Given the description of an element on the screen output the (x, y) to click on. 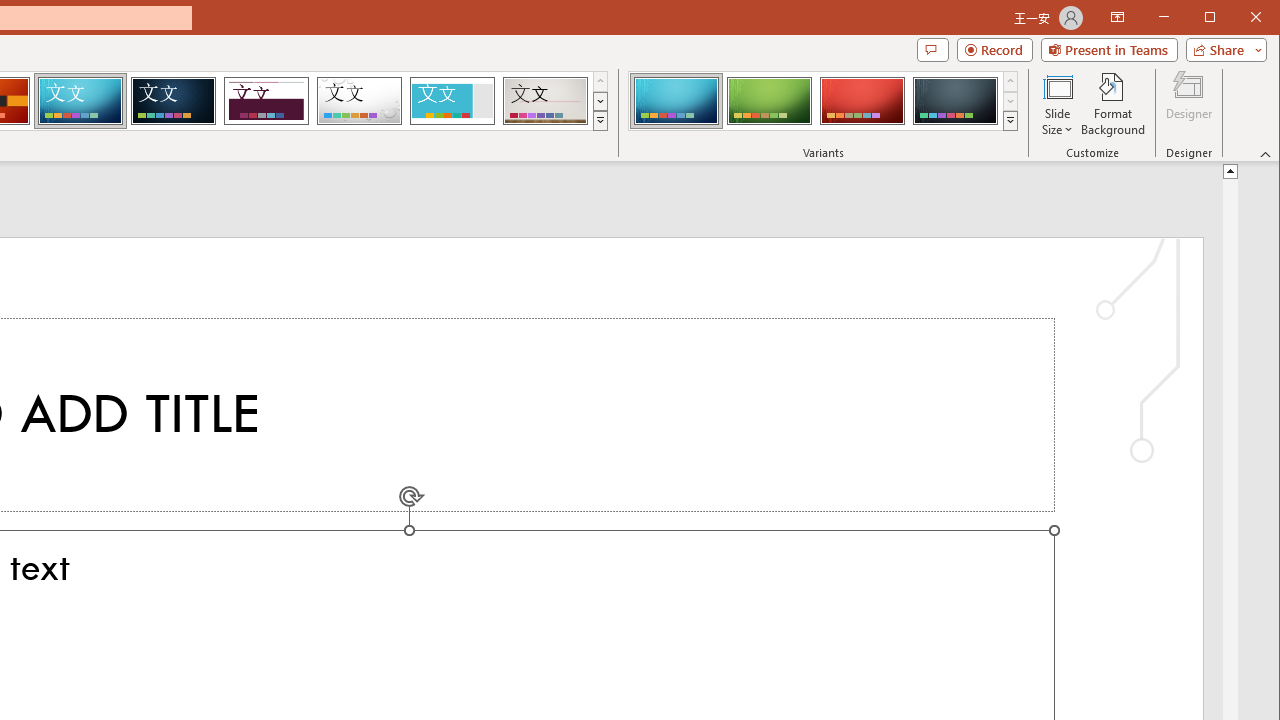
Frame (452, 100)
Circuit (80, 100)
Circuit Variant 3 (862, 100)
Droplet (359, 100)
Circuit Variant 2 (769, 100)
AutomationID: ThemeVariantsGallery (824, 101)
